Given the description of an element on the screen output the (x, y) to click on. 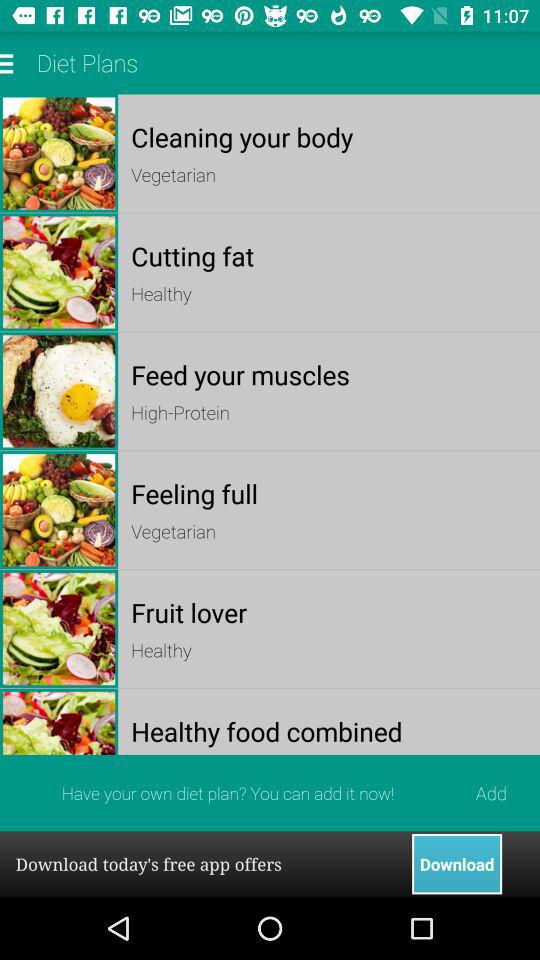
jump to high-protein app (328, 412)
